Given the description of an element on the screen output the (x, y) to click on. 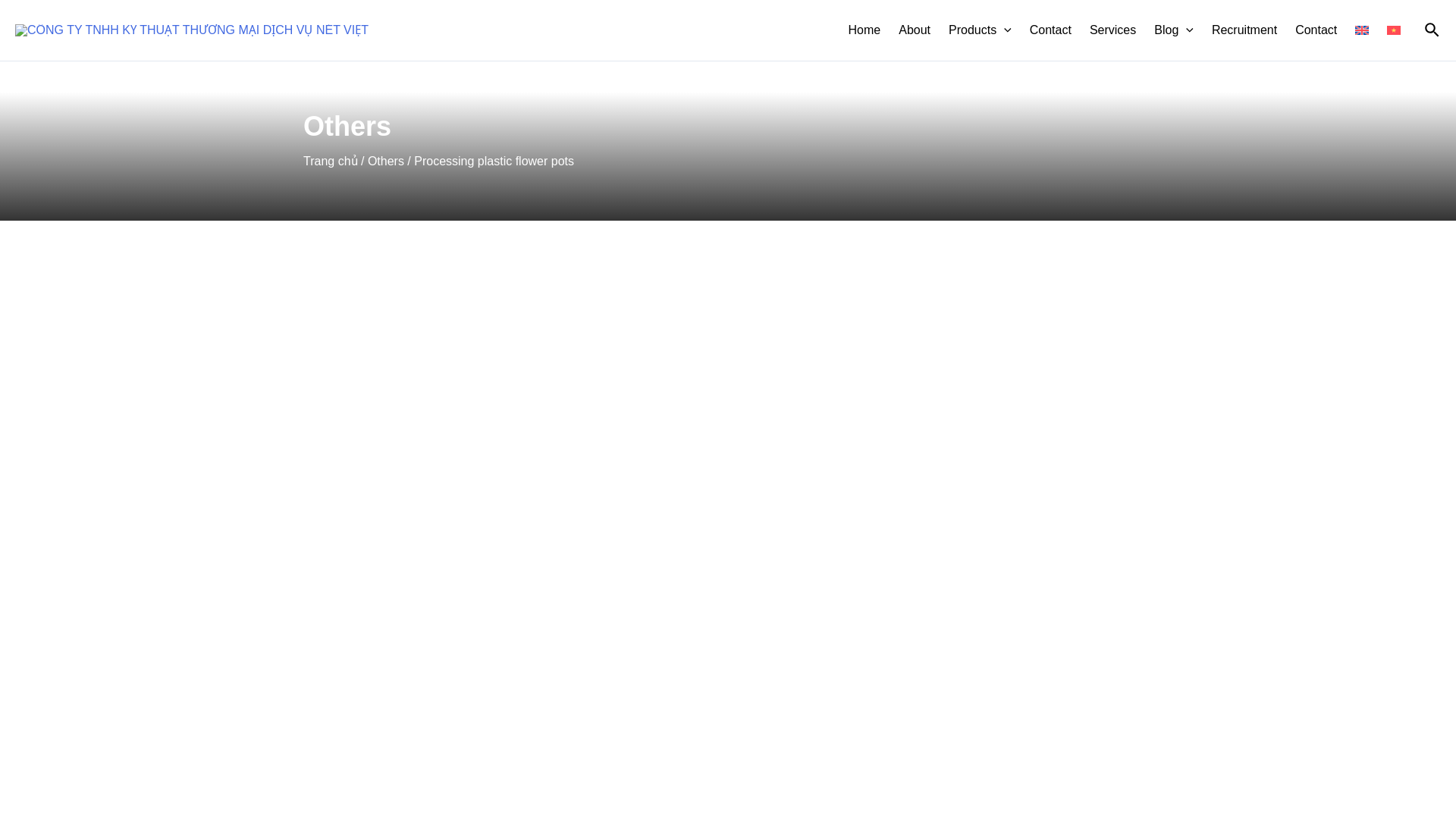
Products (979, 30)
Contact (1315, 30)
Recruitment (1243, 30)
Contact (1050, 30)
Others (346, 125)
Services (1112, 30)
Blog (1173, 30)
Others (386, 160)
